Given the description of an element on the screen output the (x, y) to click on. 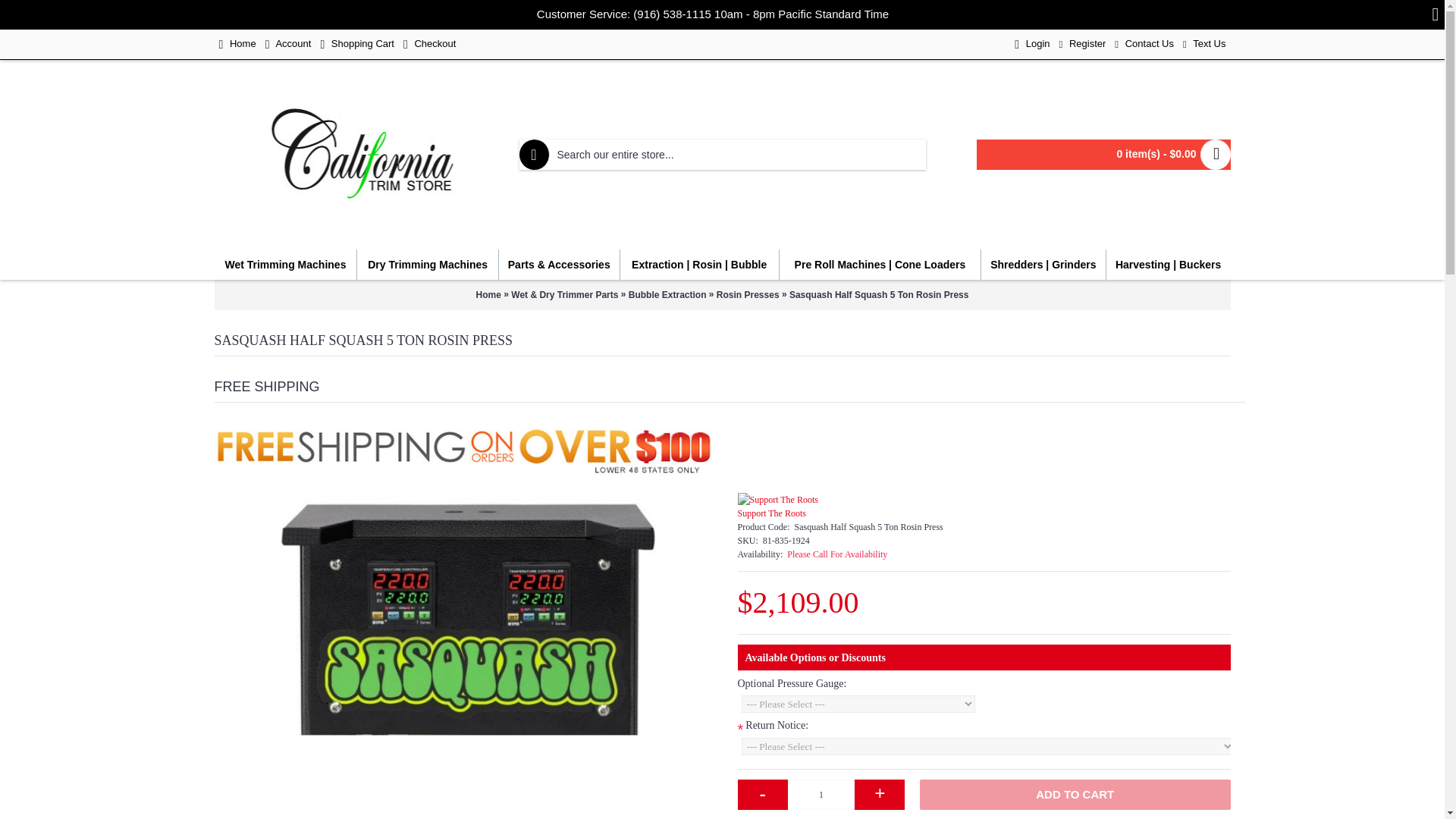
Contact Us (1143, 44)
Wet Trimming Machines (285, 264)
Home (237, 44)
Register (1082, 44)
Text Us (1203, 44)
Dry Trimming Machines (426, 264)
Shopping Cart (356, 44)
Checkout (429, 44)
1 (820, 794)
